Given the description of an element on the screen output the (x, y) to click on. 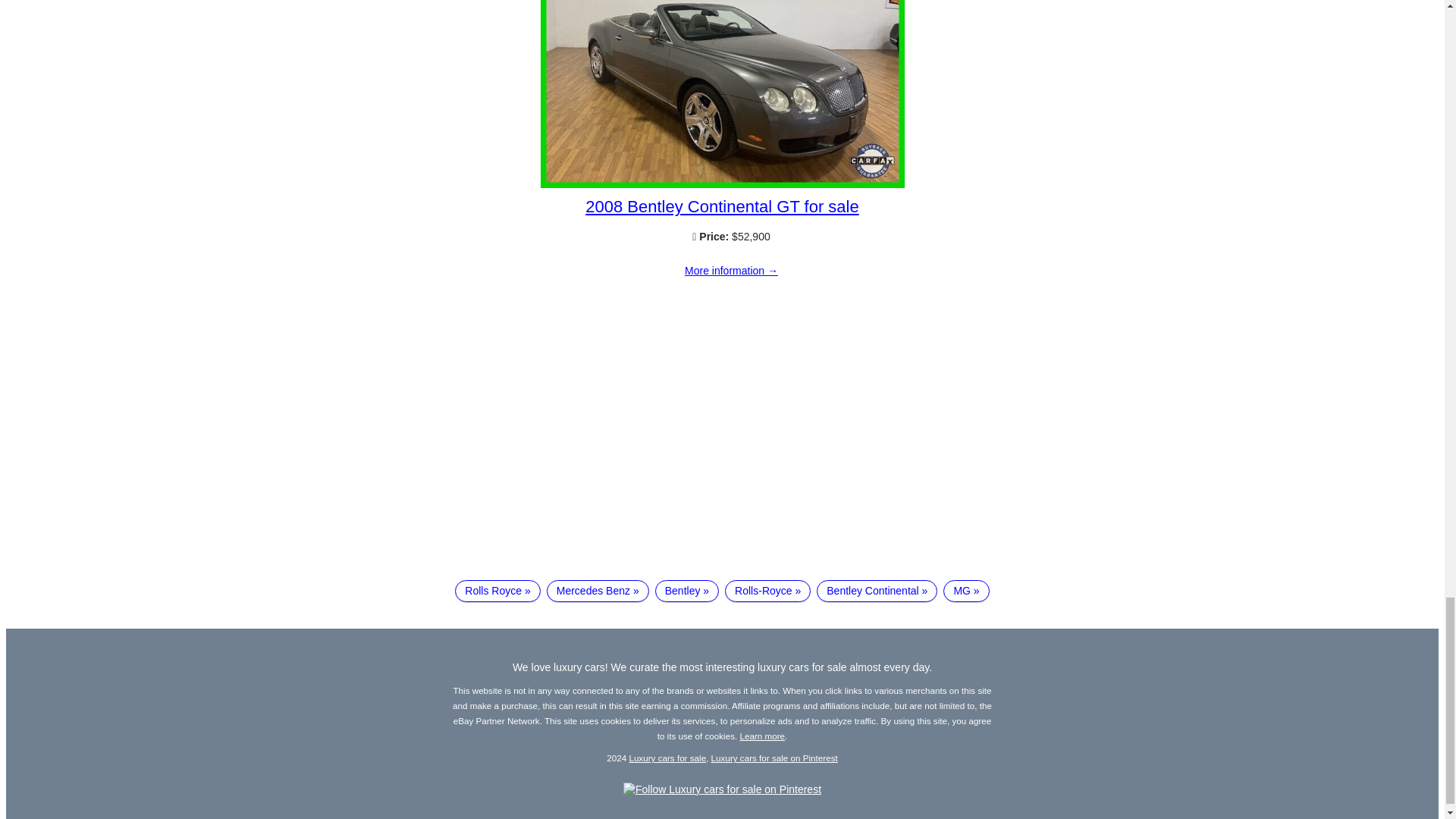
Luxury cars for sale on Pinterest (774, 757)
2008 Bentley Continental GT for sale (731, 271)
Learn more (762, 736)
2008 Bentley Continental GT for sale (722, 206)
Rolls Royce (497, 590)
2008 Bentley Continental GT for sale (722, 184)
Bentley (687, 590)
MG (965, 590)
Rolls-Royce (767, 590)
Luxury cars for sale (667, 757)
Bentley Continental (876, 590)
Follow Luxury cars for sale on Pinterest (722, 788)
Mercedes Benz (598, 590)
